Given the description of an element on the screen output the (x, y) to click on. 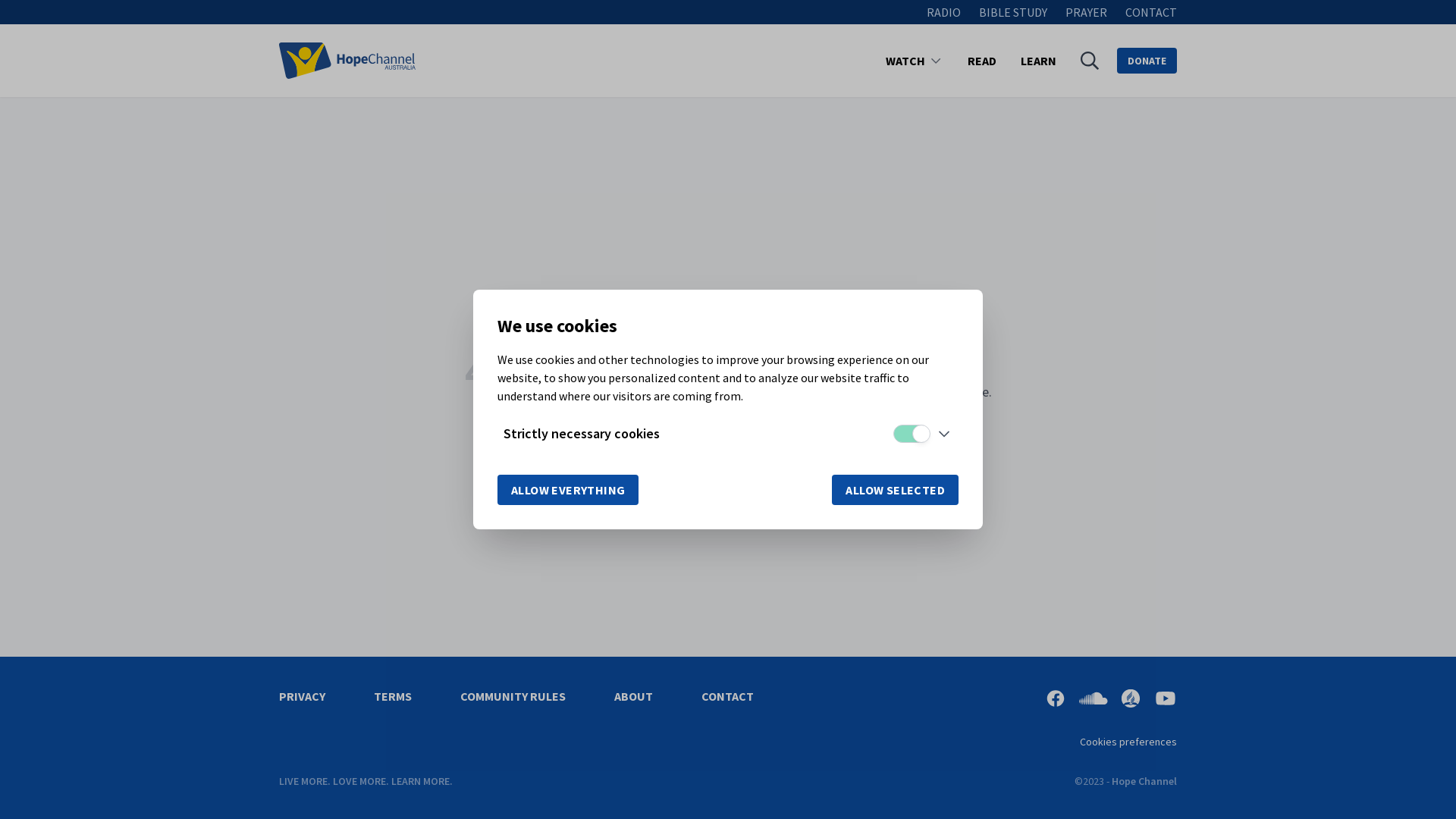
CONTACT Element type: text (727, 695)
ABOUT Element type: text (633, 695)
RADIO Element type: text (943, 11)
Cookies preferences Element type: text (1127, 741)
Strictly necessary cookies Element type: text (581, 433)
Hope Channel Austraila Element type: hover (347, 60)
COMMUNITY RULES Element type: text (512, 695)
PRIVACY Element type: text (302, 695)
CONTACT Element type: text (1150, 11)
TERMS Element type: text (392, 695)
ALLOW SELECTED Element type: text (894, 489)
PRAYER Element type: text (1086, 11)
ALLOW EVERYTHING Element type: text (567, 489)
LEARN Element type: text (1038, 60)
DONATE Element type: text (1146, 60)
BIBLE STUDY Element type: text (1013, 11)
READ Element type: text (981, 60)
WATCH Element type: text (905, 60)
